Given the description of an element on the screen output the (x, y) to click on. 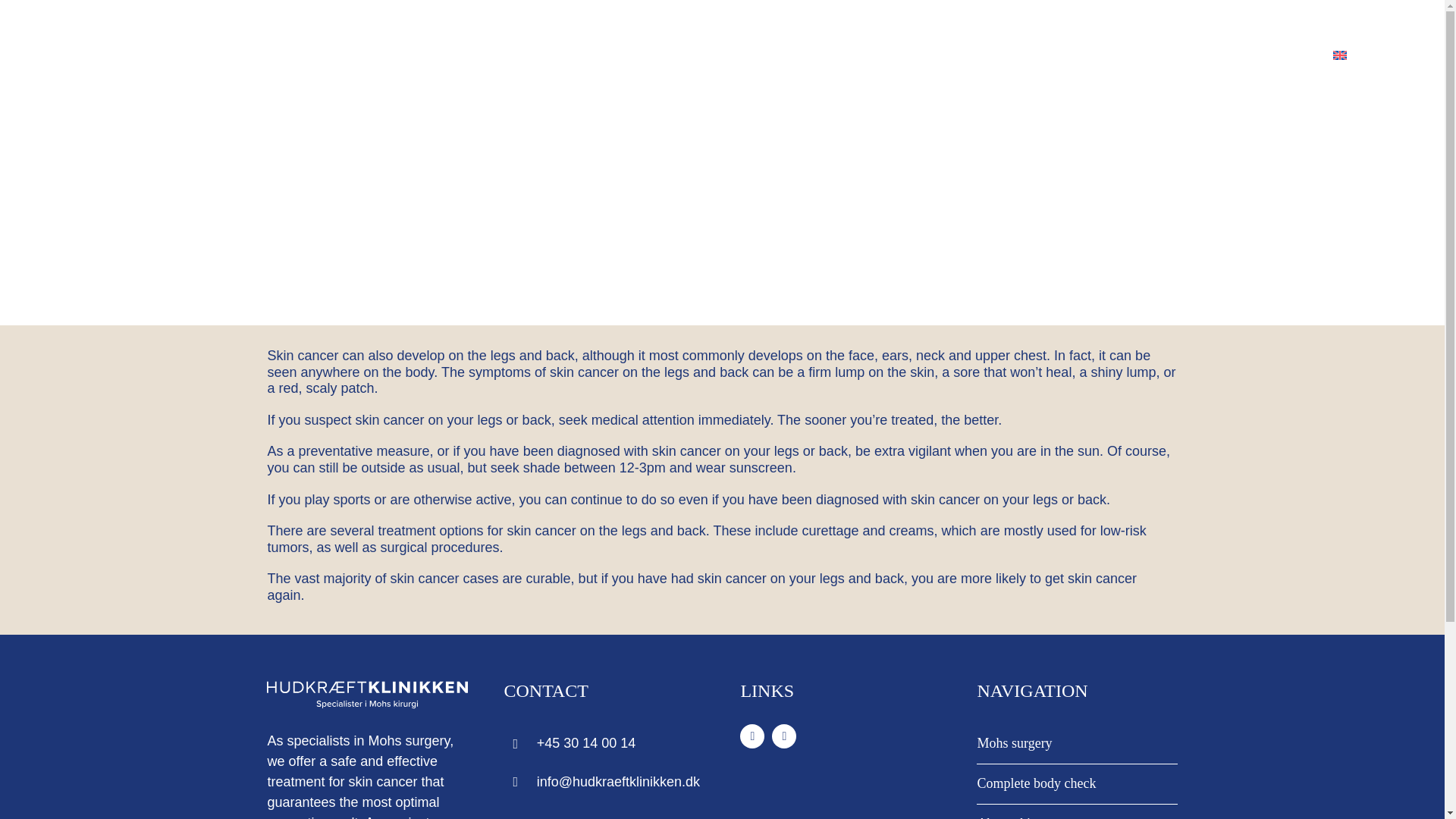
About skin cancer (1076, 811)
MOHS SURGERY (527, 28)
Mohs surgery (1076, 743)
ABOUT MELANOMA (1073, 28)
Hudkraeftklinikken logo (366, 694)
Instagram (783, 735)
COMPLETE BODY CHECK (696, 28)
ABOUT SKIN CANCER (890, 28)
Facebook (751, 735)
Complete body check (1076, 784)
